Given the description of an element on the screen output the (x, y) to click on. 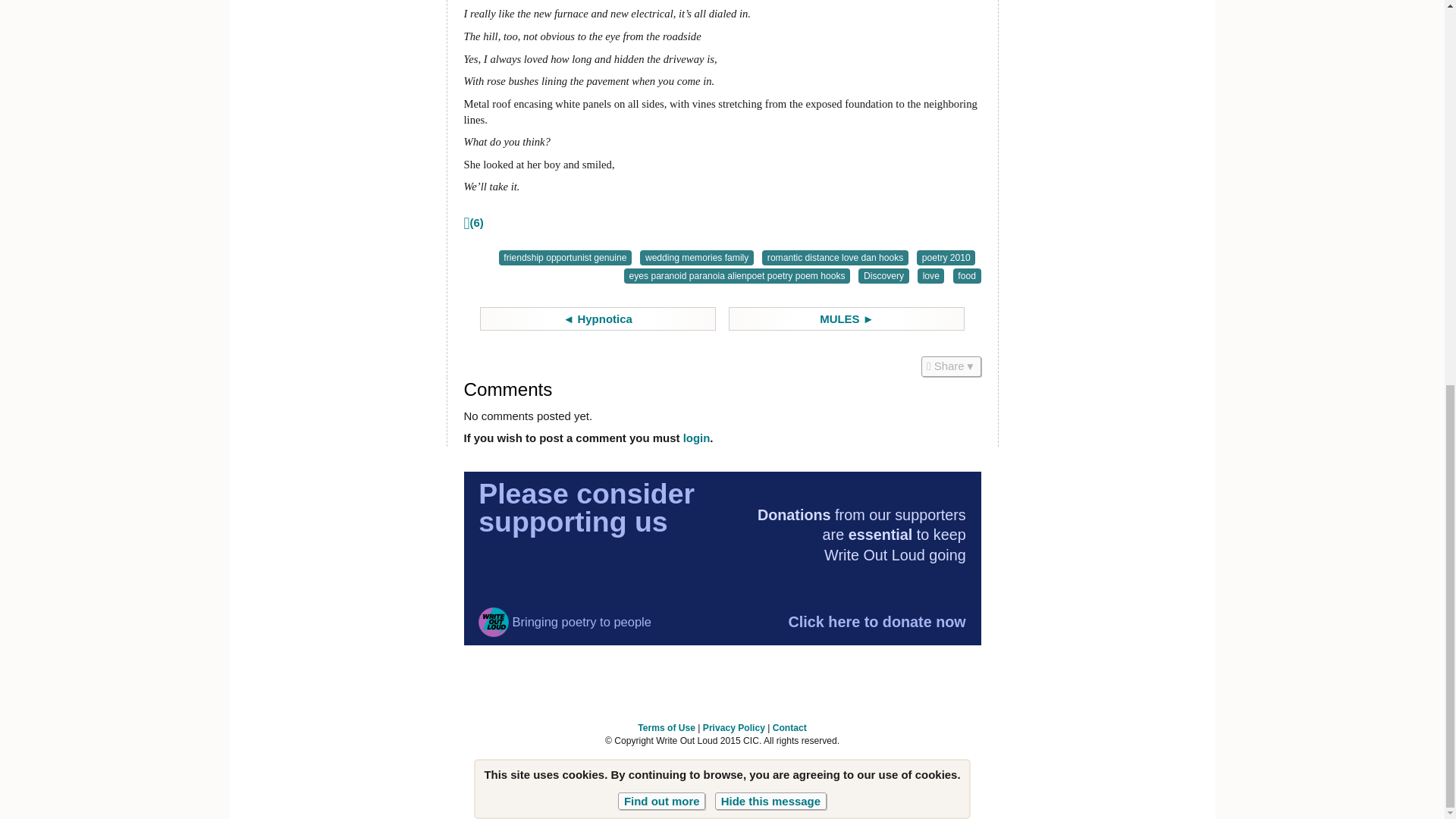
love (930, 275)
Instagram (649, 778)
Share (949, 366)
Privacy Policy (734, 727)
food (967, 275)
Contact (789, 727)
romantic distance love dan hooks (834, 257)
friendship opportunist genuine (565, 257)
login (696, 437)
